Given the description of an element on the screen output the (x, y) to click on. 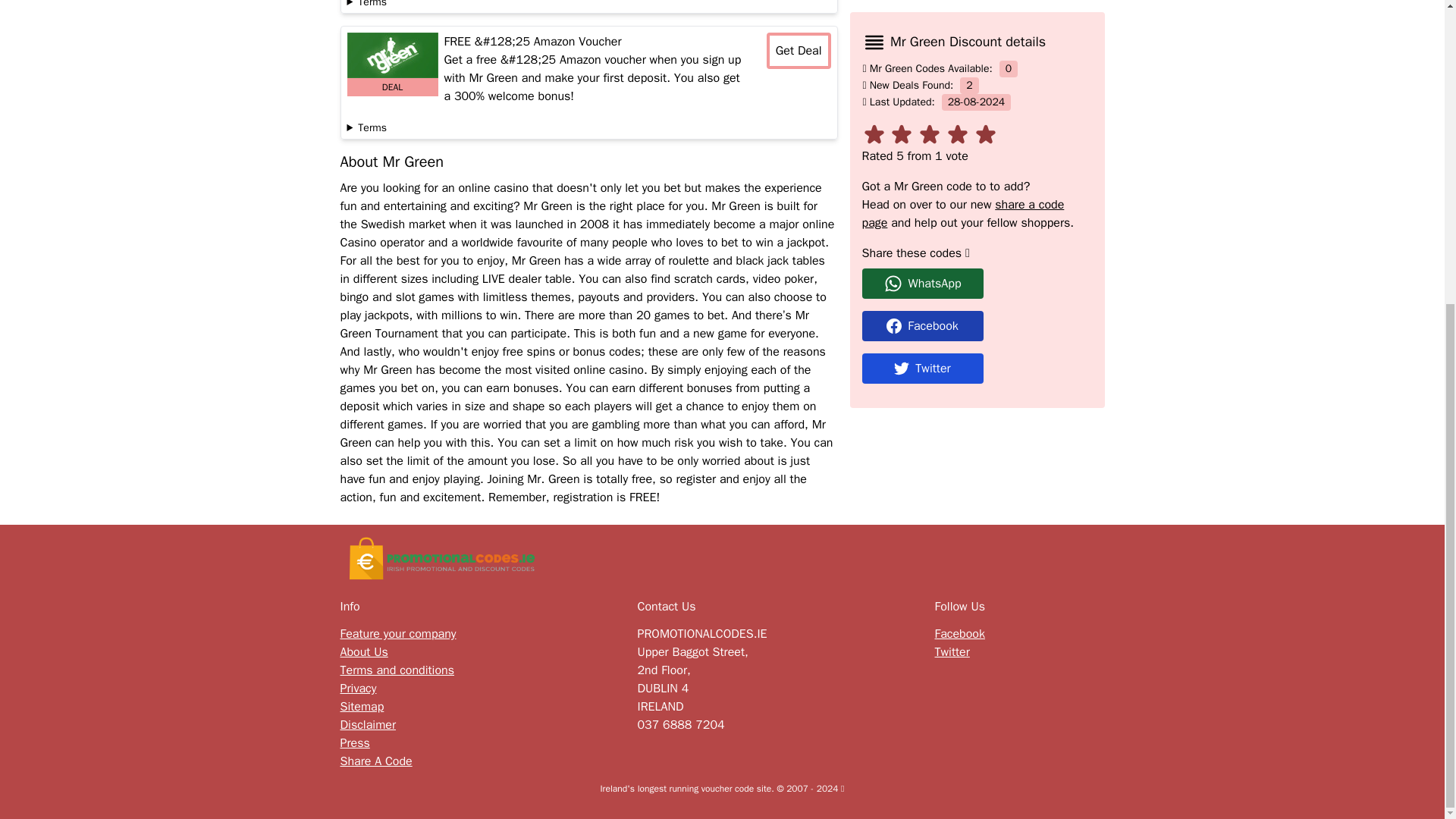
Feature your company (397, 633)
Facebook (977, 143)
Privacy (357, 688)
Share on whatsapp (977, 101)
share a code page (962, 31)
Twitter (922, 186)
Disclaimer (366, 724)
Share A Code (375, 761)
Share on Twitter (977, 186)
Facebook (959, 633)
